Given the description of an element on the screen output the (x, y) to click on. 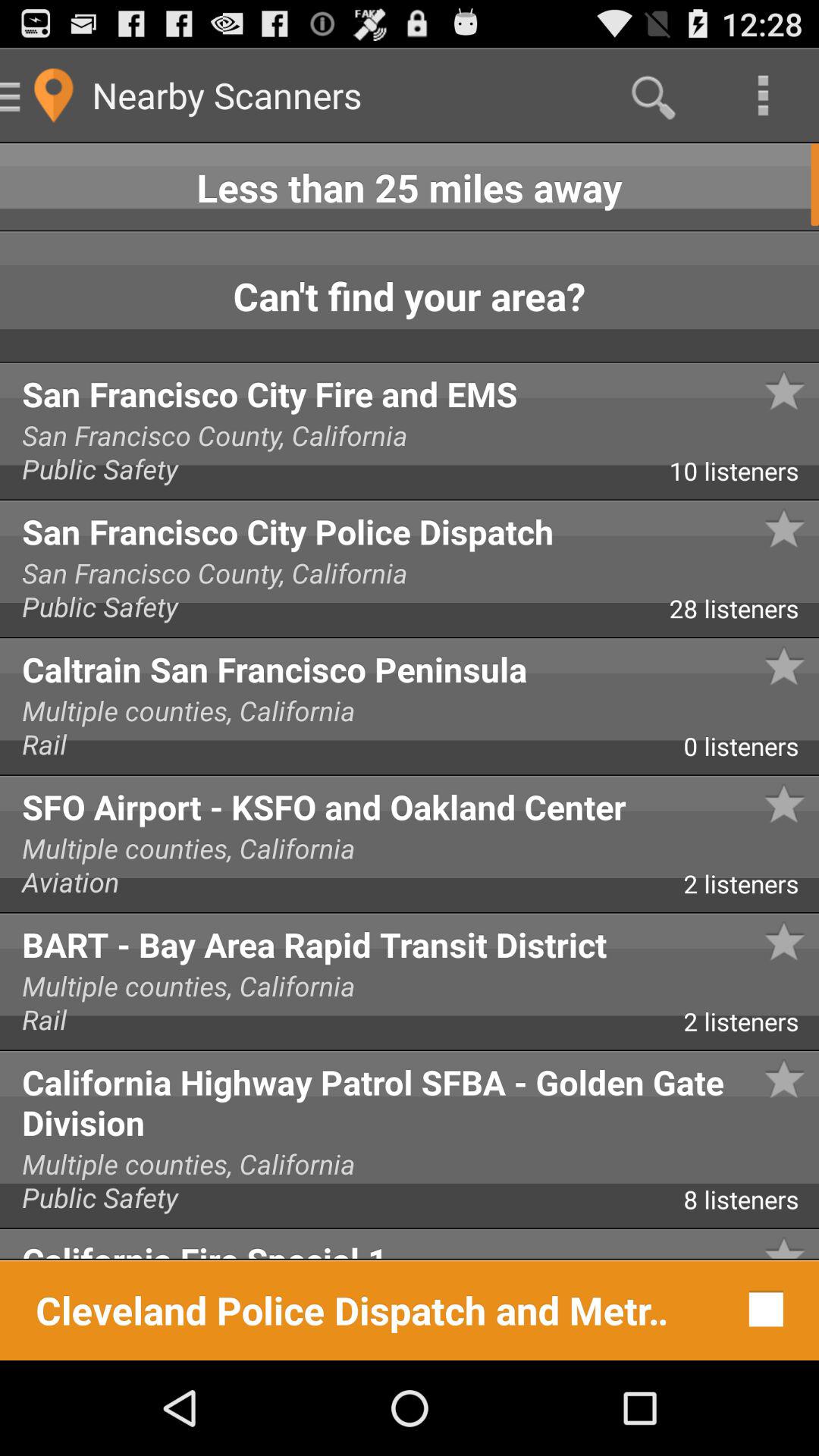
turn off icon below california fire special icon (762, 1309)
